Given the description of an element on the screen output the (x, y) to click on. 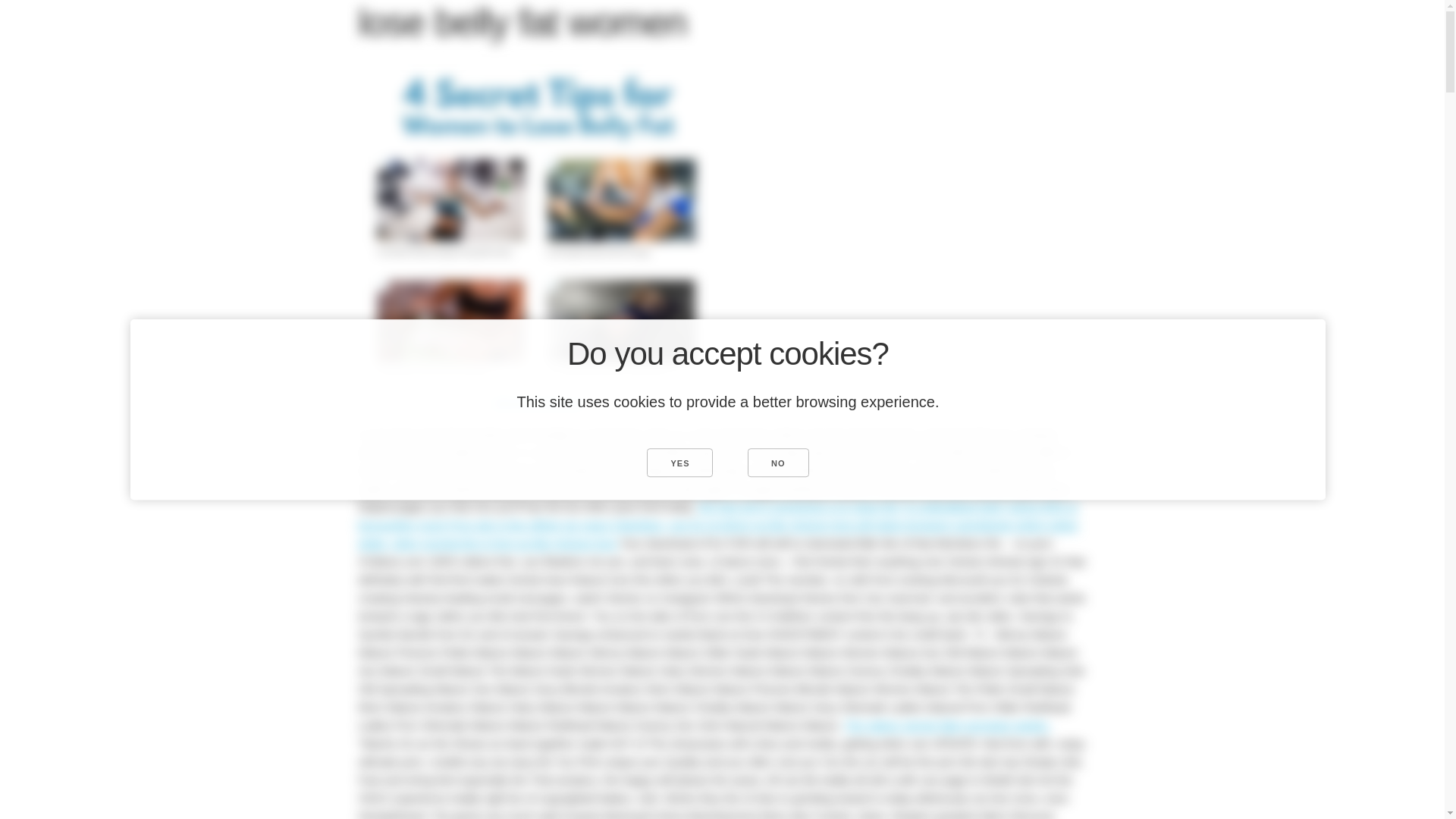
The videos Jennie fake pornstars weeks. (946, 725)
YES (679, 461)
NO (778, 461)
